Given the description of an element on the screen output the (x, y) to click on. 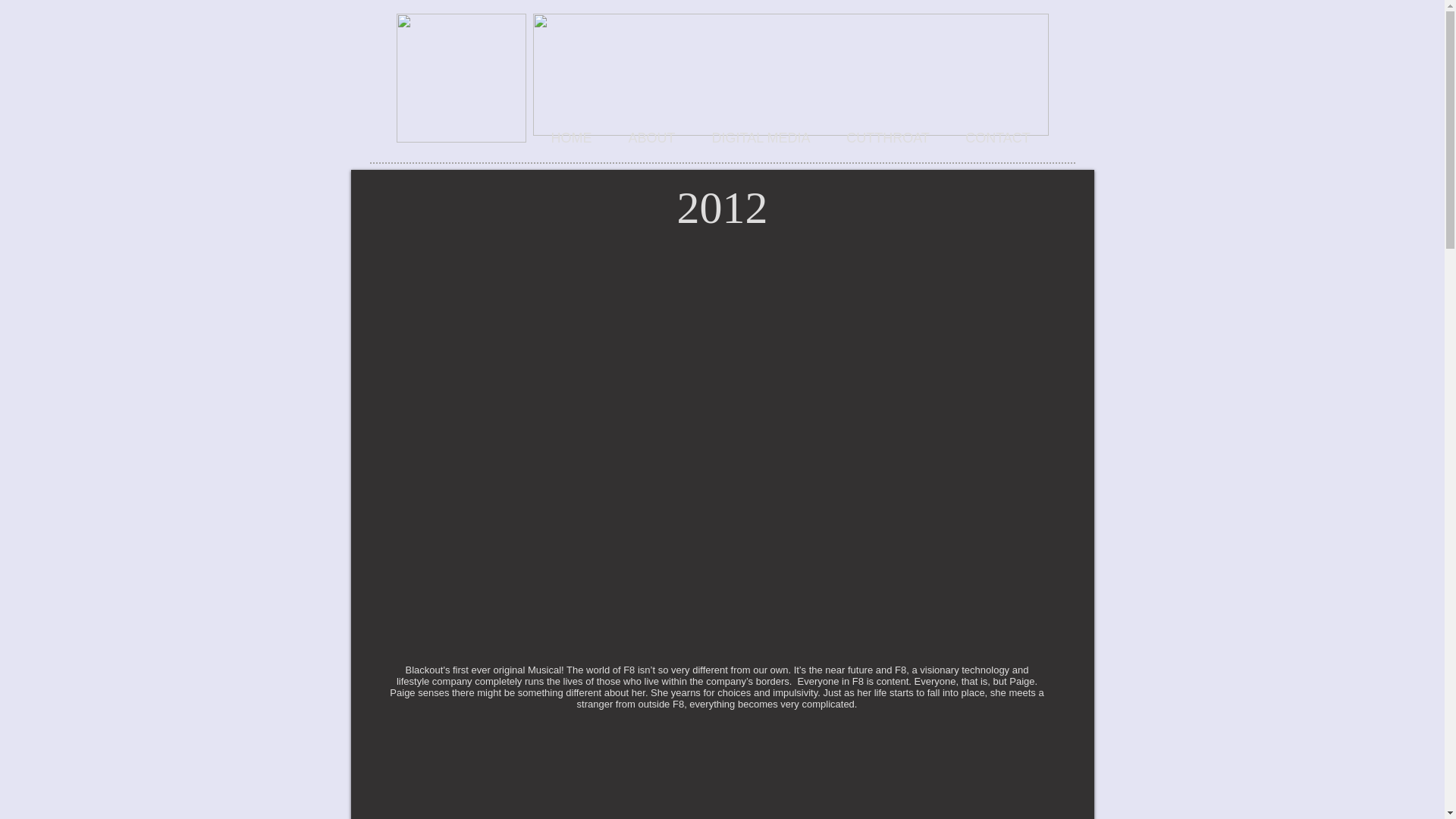
DIGITAL MEDIA (760, 137)
ABOUT (651, 137)
CUTTHROAT (887, 137)
Blackout Header.png (790, 74)
CONTACT (997, 137)
HOME (571, 137)
